Given the description of an element on the screen output the (x, y) to click on. 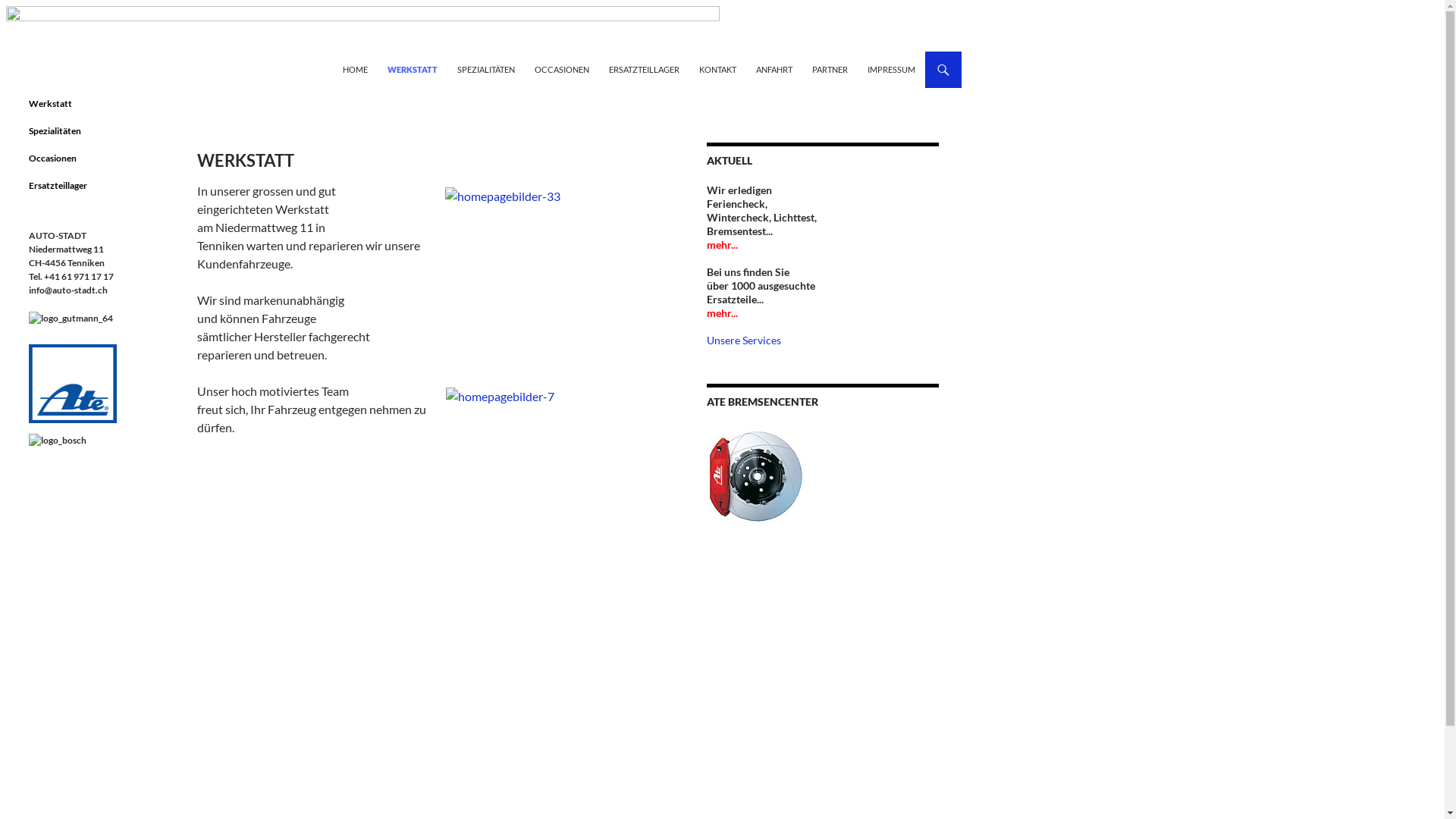
Occasionen Element type: text (52, 157)
ZUM INHALT SPRINGEN Element type: text (311, 50)
ERSATZTEILLAGER Element type: text (643, 69)
OCCASIONEN Element type: text (561, 69)
IMPRESSUM Element type: text (891, 69)
info@auto-stadt.ch Element type: text (67, 289)
Unsere Services Element type: text (743, 339)
HOME Element type: text (354, 69)
KONTAKT Element type: text (717, 69)
Suchen Element type: text (9, 50)
Ersatzteillager Element type: text (57, 185)
WERKSTATT Element type: text (412, 69)
mehr... Element type: text (721, 312)
mehr... Element type: text (721, 244)
PARTNER Element type: text (829, 69)
Werkstatt Element type: text (50, 103)
ANFAHRT Element type: text (773, 69)
